Given the description of an element on the screen output the (x, y) to click on. 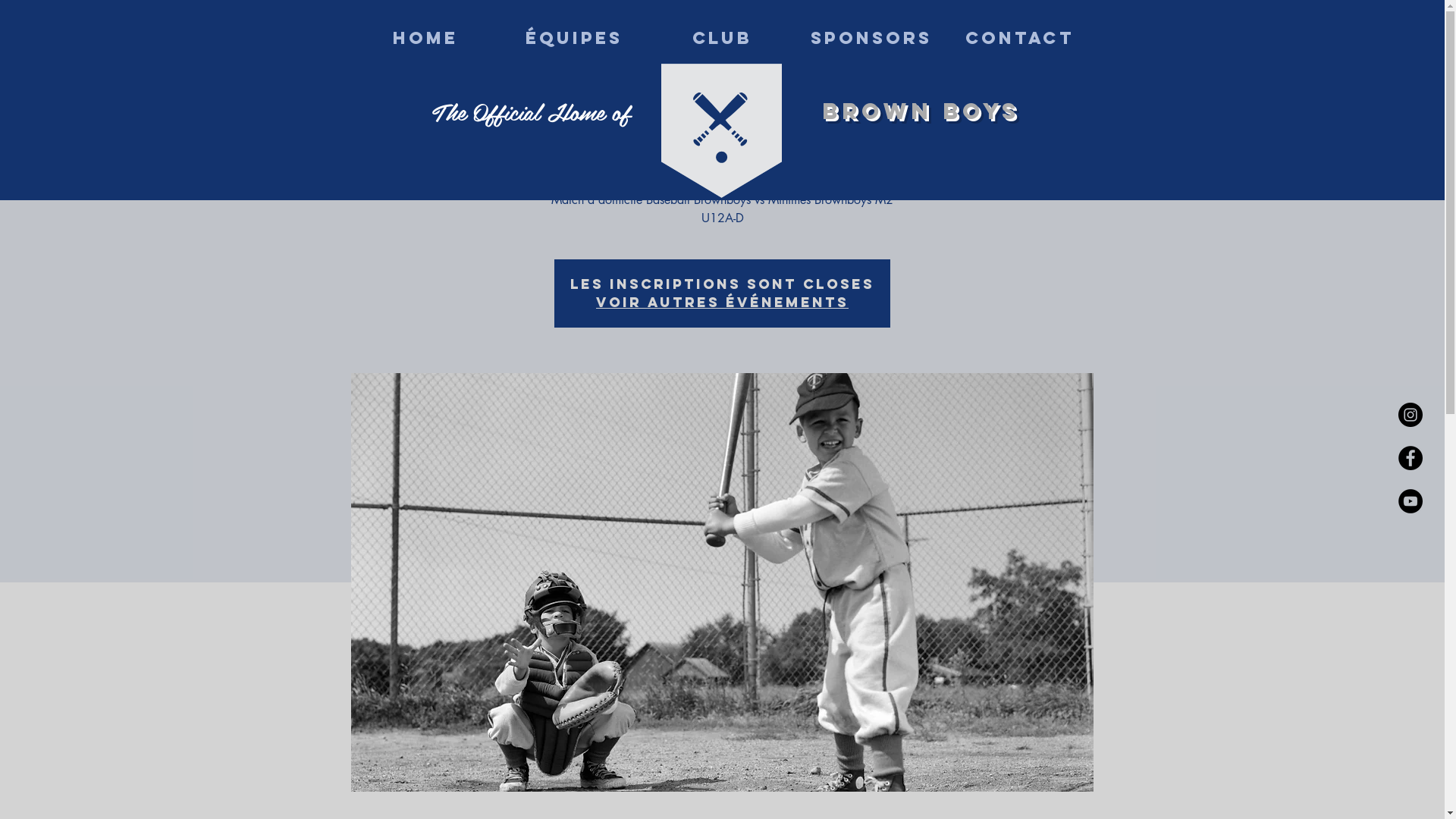
CLUB Element type: text (721, 38)
HOME Element type: text (424, 38)
SPONSORS Element type: text (870, 38)
CONTACT Element type: text (1018, 38)
